Given the description of an element on the screen output the (x, y) to click on. 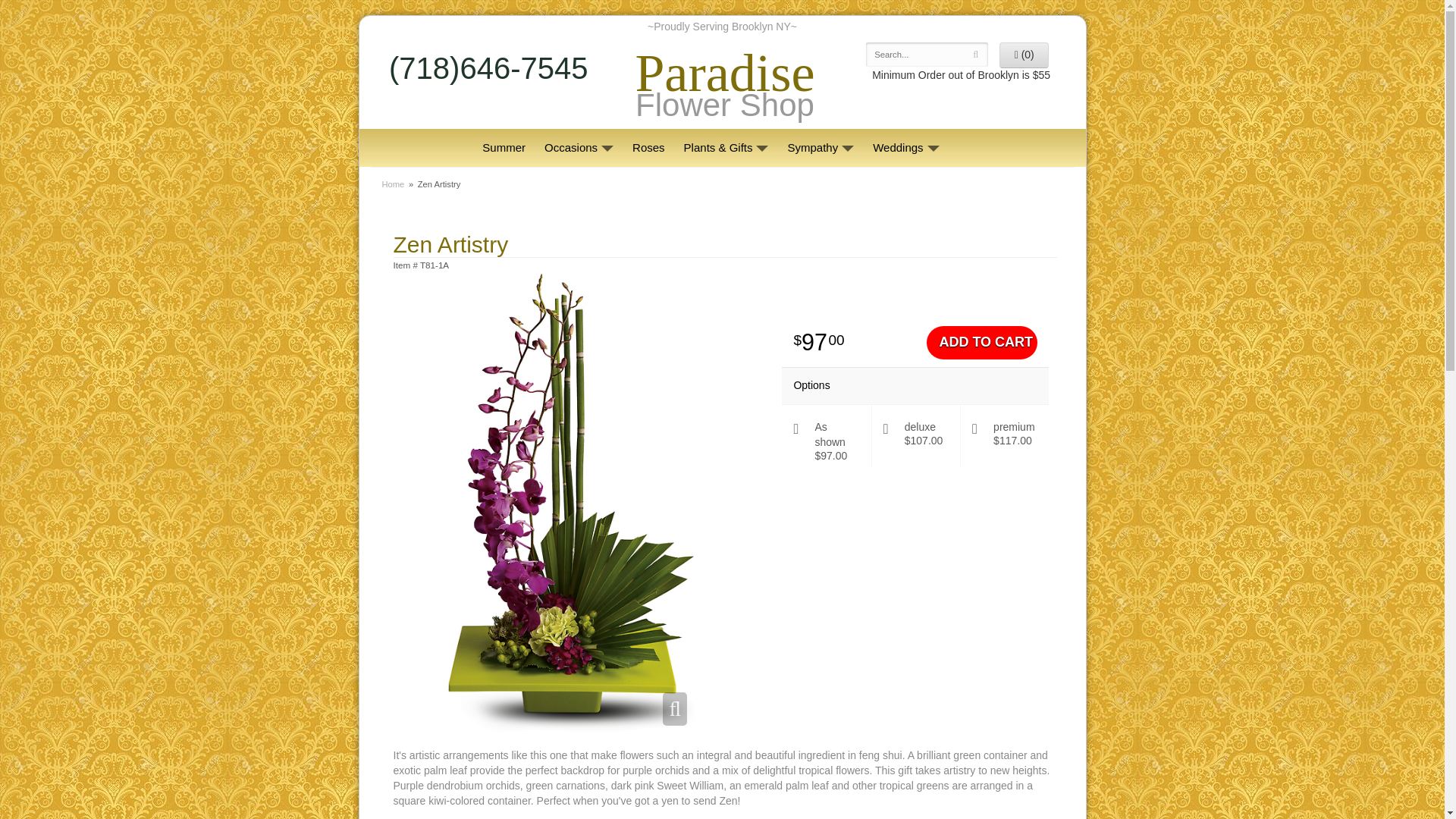
Weddings (907, 147)
Sympathy (821, 147)
Home (723, 92)
Roses (392, 184)
Occasions (650, 147)
Summer (580, 147)
